Given the description of an element on the screen output the (x, y) to click on. 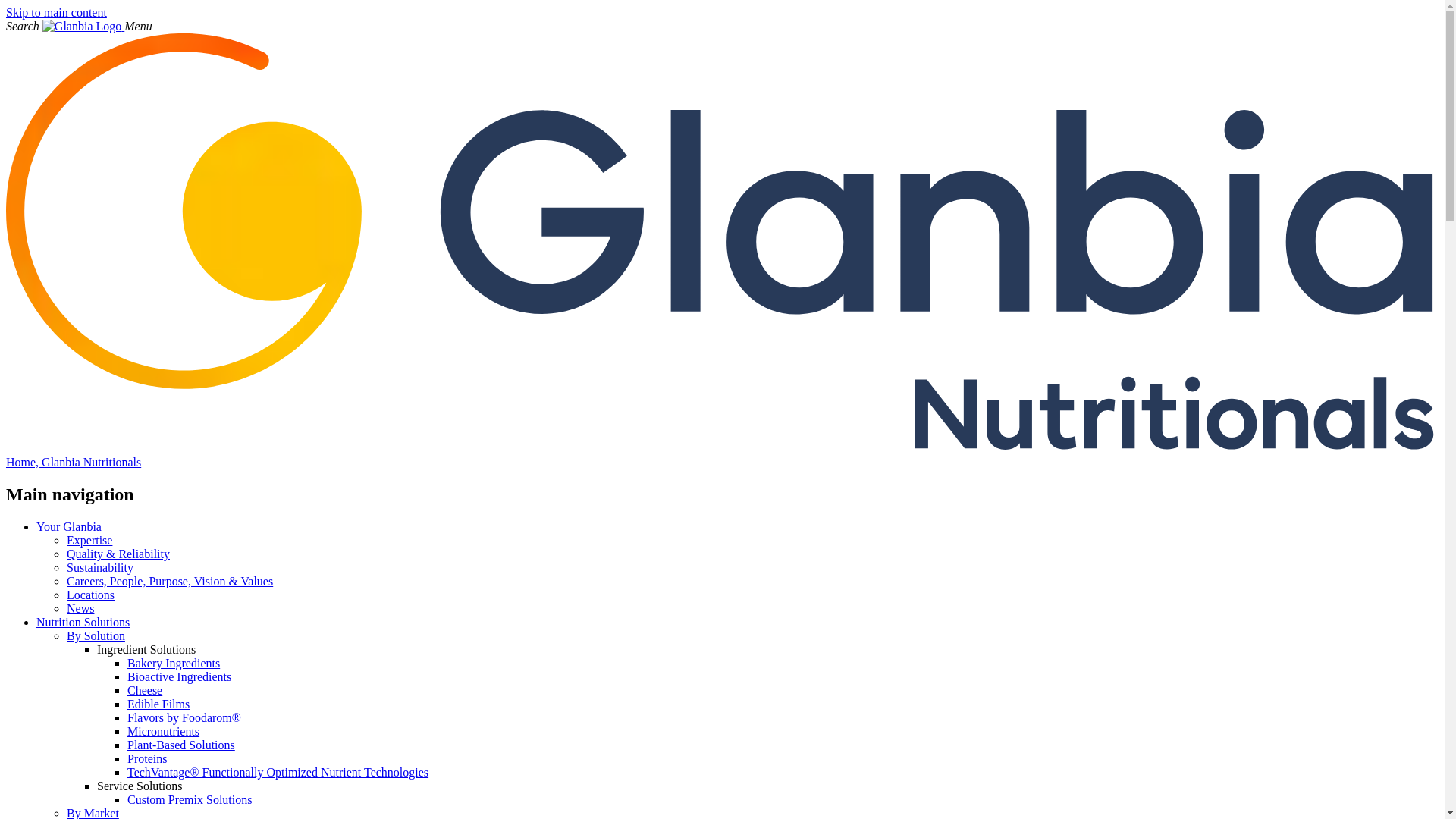
By Market (92, 812)
Plant-Based Solutions (181, 744)
Proteins (147, 758)
Custom Premix Solutions (189, 799)
By Solution (95, 635)
 Home (82, 25)
Bakery Ingredients (173, 662)
News (80, 608)
Skip to main content (55, 11)
Edible Films (158, 703)
